Given the description of an element on the screen output the (x, y) to click on. 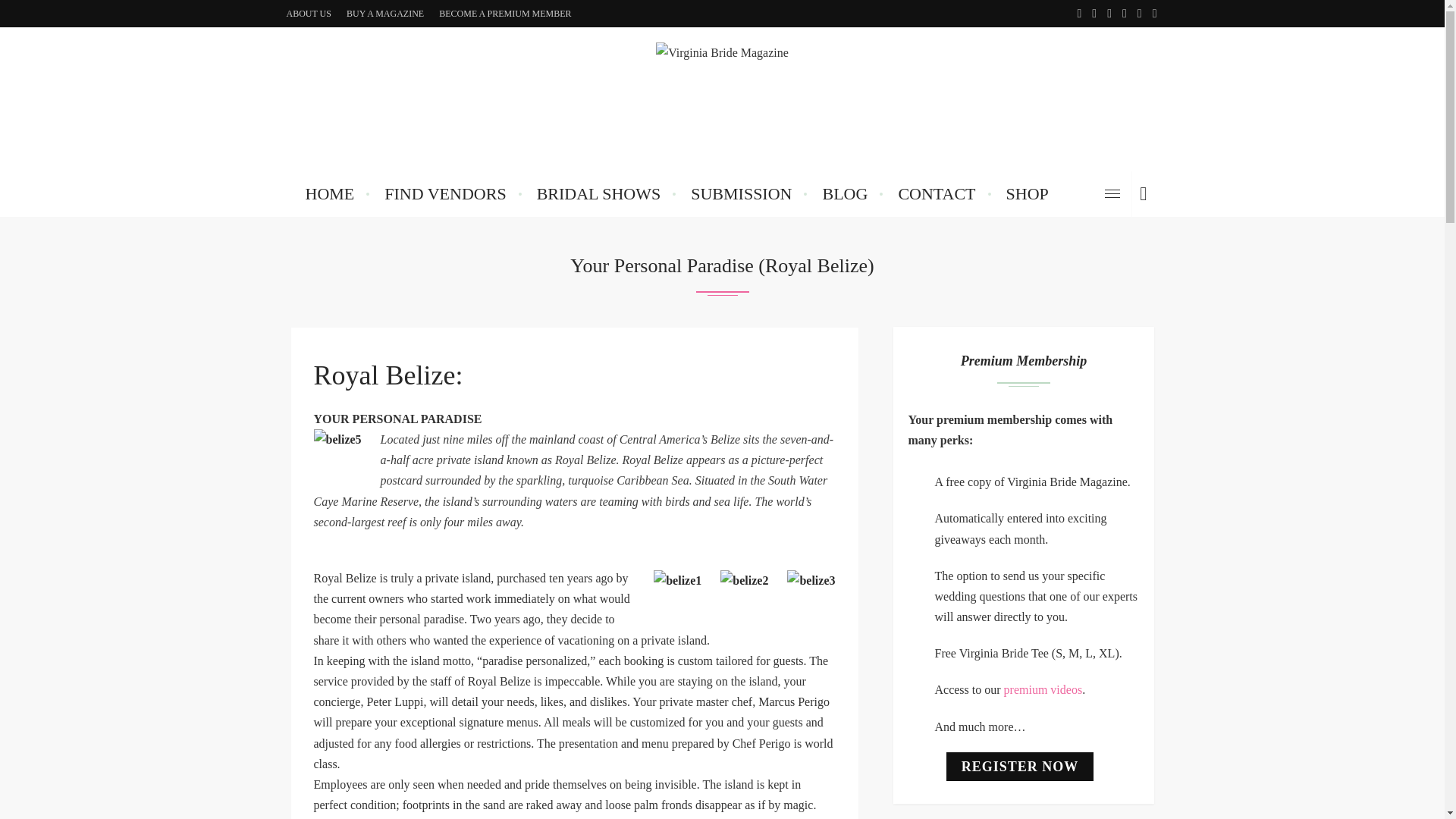
BUY A MAGAZINE (384, 13)
HOME (329, 194)
Virginia Bride Magazine (722, 99)
BECOME A PREMIUM MEMBER (504, 13)
ABOUT US (309, 13)
